Given the description of an element on the screen output the (x, y) to click on. 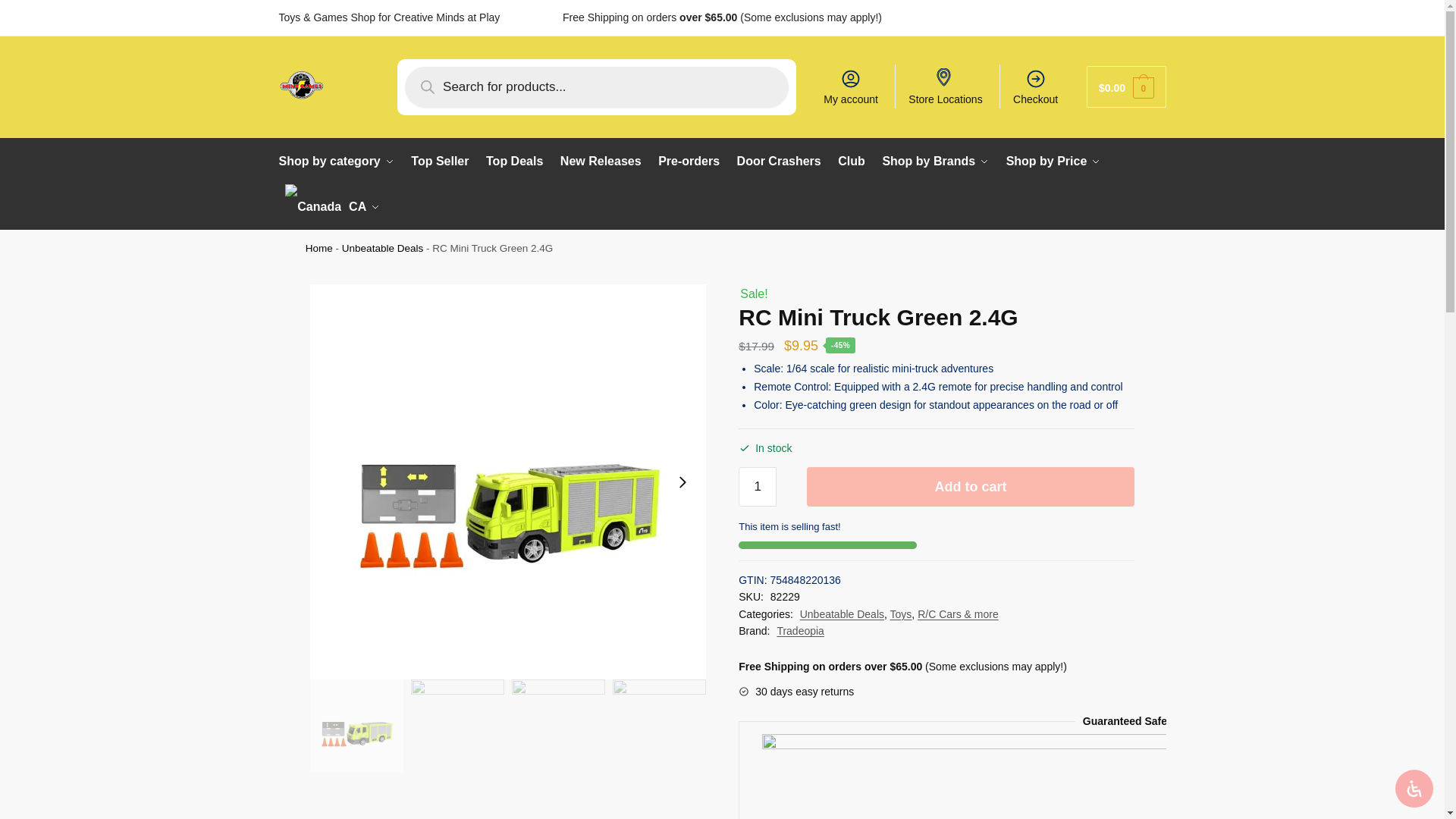
My account (849, 86)
View your shopping cart (1126, 86)
Checkout (1035, 86)
Customer Help (1042, 16)
1 (757, 486)
Shop by category (340, 161)
82229-1 (356, 726)
Store Locations (945, 86)
Track your Order (1126, 16)
